Given the description of an element on the screen output the (x, y) to click on. 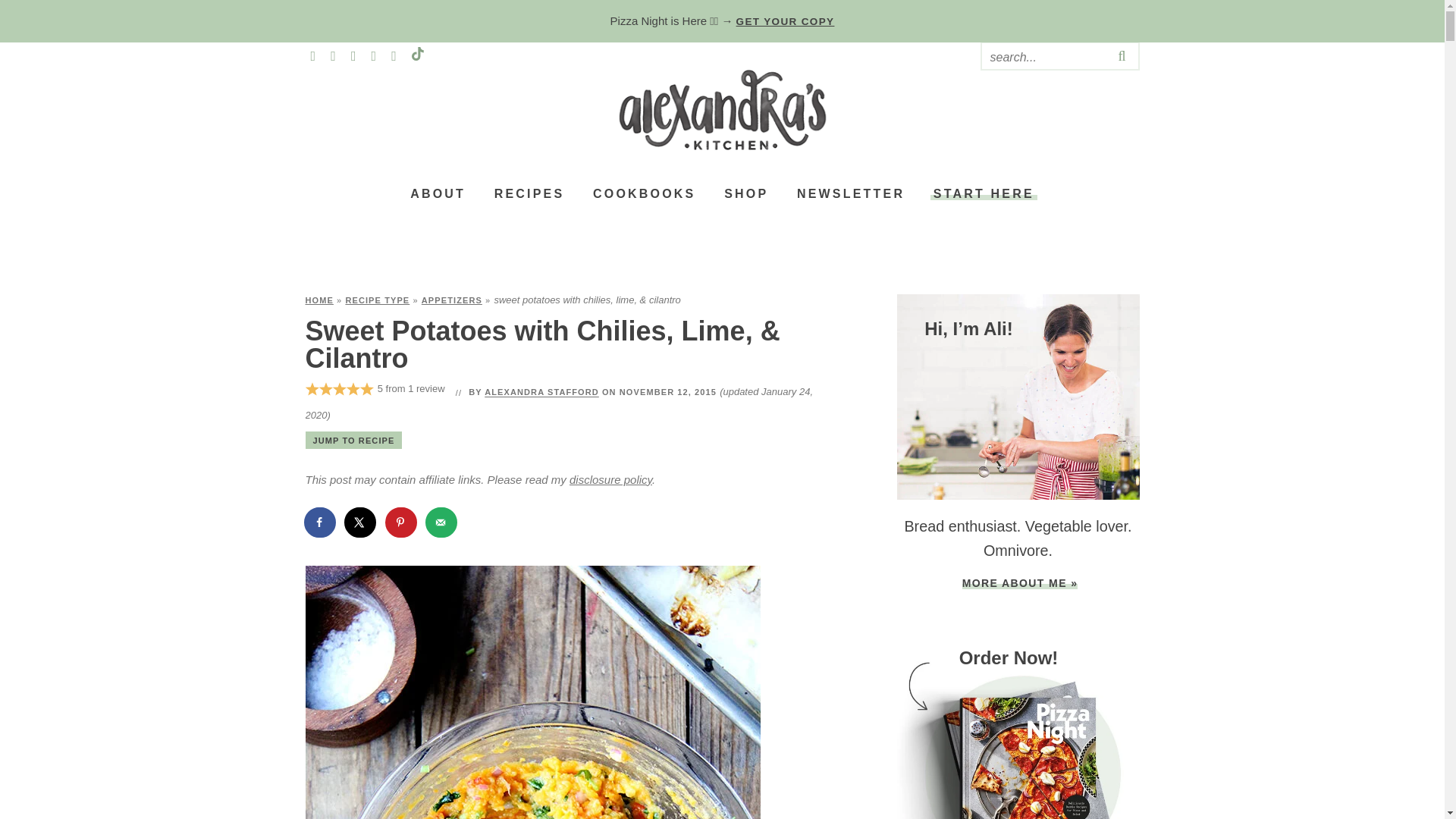
Save to Pinterest (401, 521)
TikTok (417, 55)
Search (1043, 55)
Send over email (441, 521)
Alexandra's Kitchen (721, 108)
Share on Facebook (319, 521)
5 from 1 review (376, 389)
Share on X (360, 521)
